Given the description of an element on the screen output the (x, y) to click on. 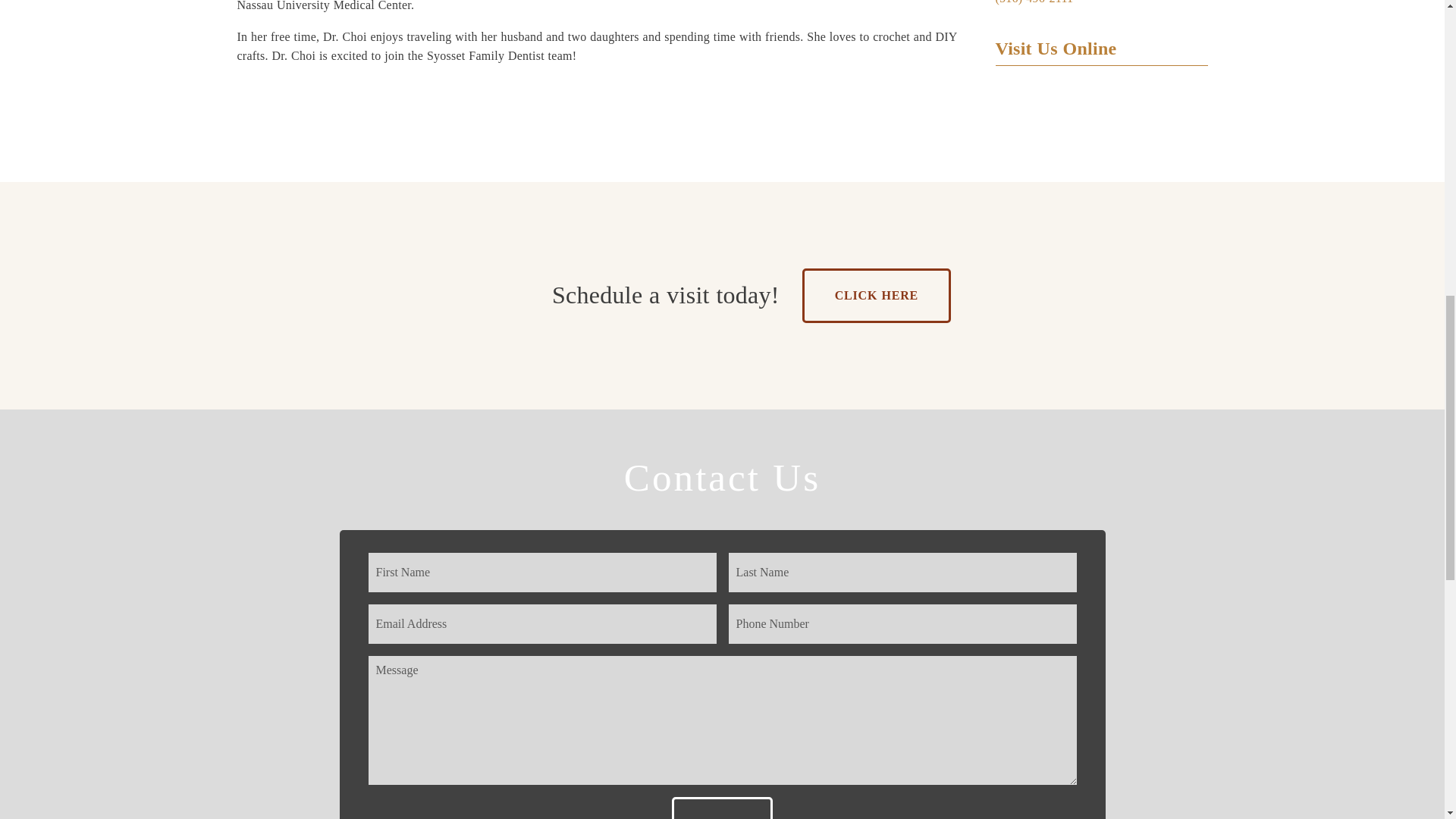
CLICK HERE (876, 295)
